Given the description of an element on the screen output the (x, y) to click on. 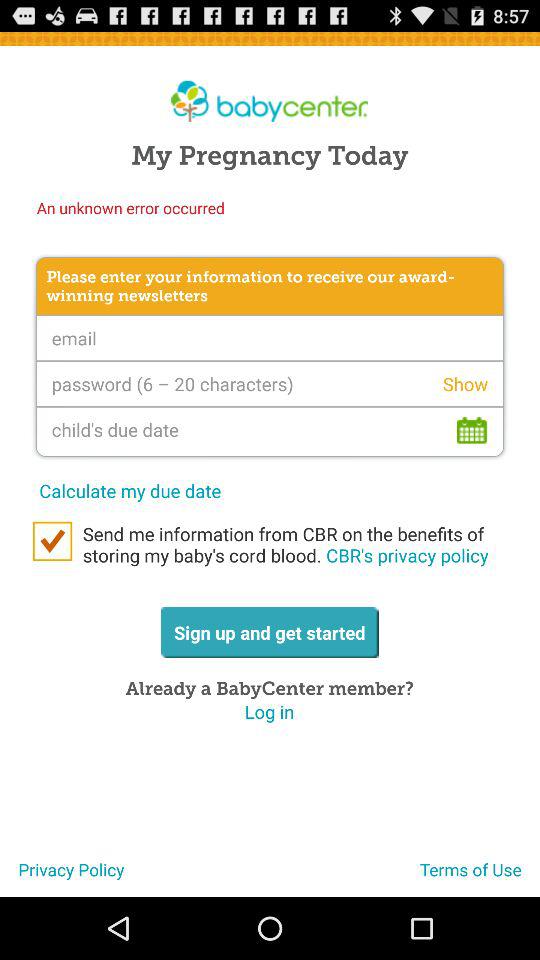
tap the icon above calculate my due app (270, 431)
